Given the description of an element on the screen output the (x, y) to click on. 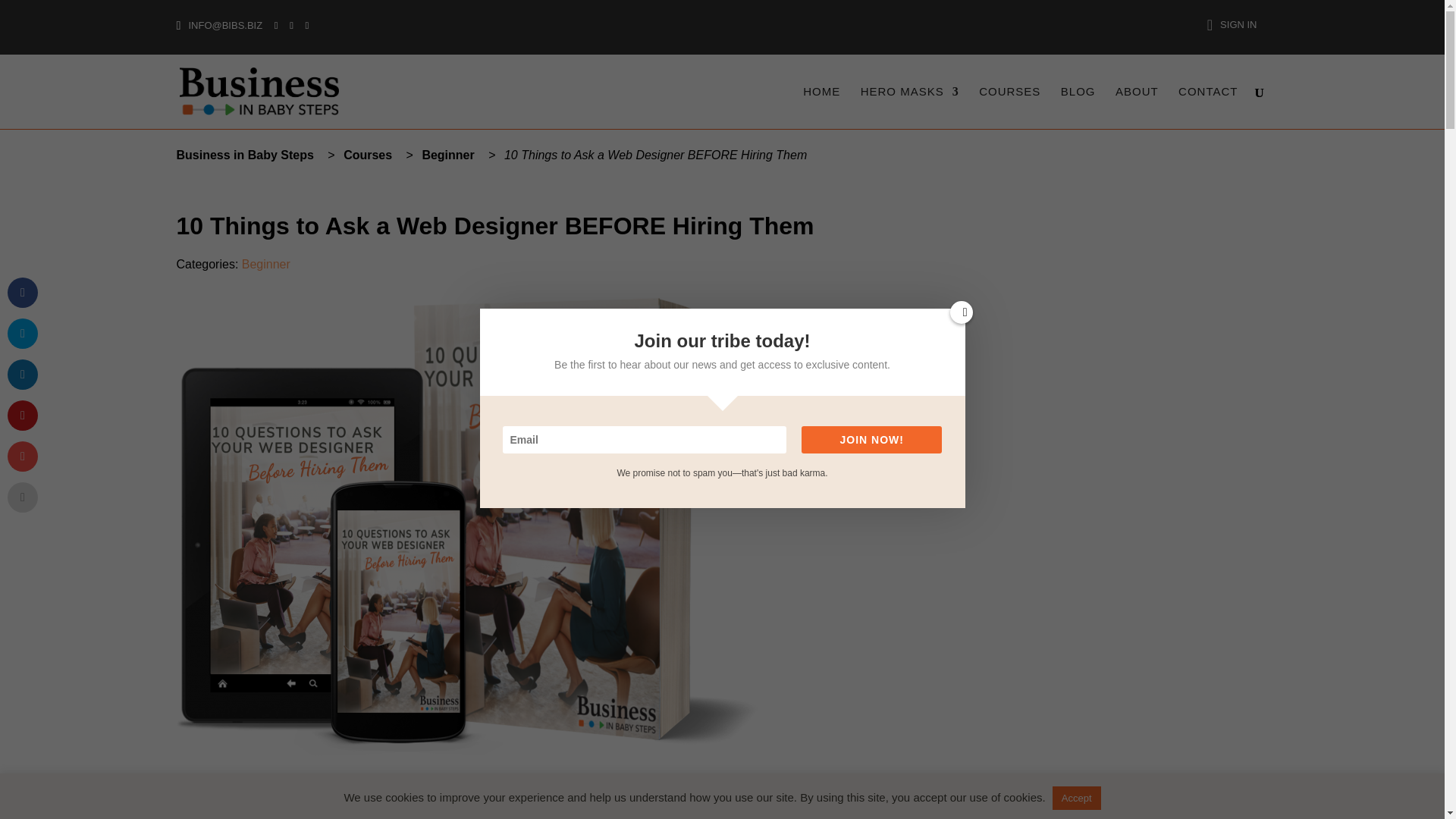
Go to Business in Baby Steps. (247, 154)
Go to the Beginner Course Category archives. (450, 154)
SIGN IN (1232, 28)
Go to Courses. (370, 154)
COURSES (1009, 107)
ABOUT (1136, 107)
CONTACT (1207, 107)
HERO MASKS (909, 107)
